Given the description of an element on the screen output the (x, y) to click on. 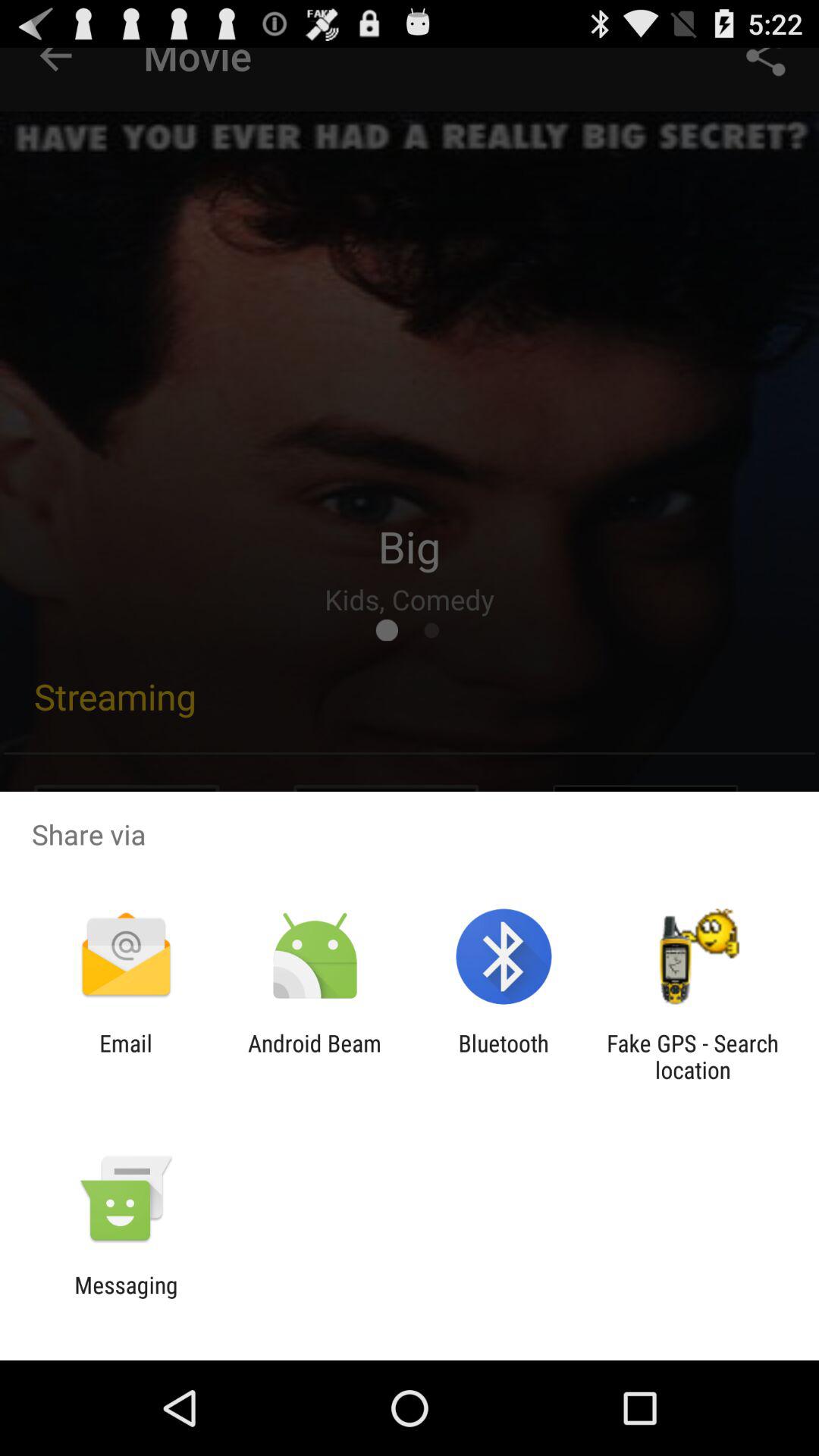
click icon next to android beam app (503, 1056)
